Given the description of an element on the screen output the (x, y) to click on. 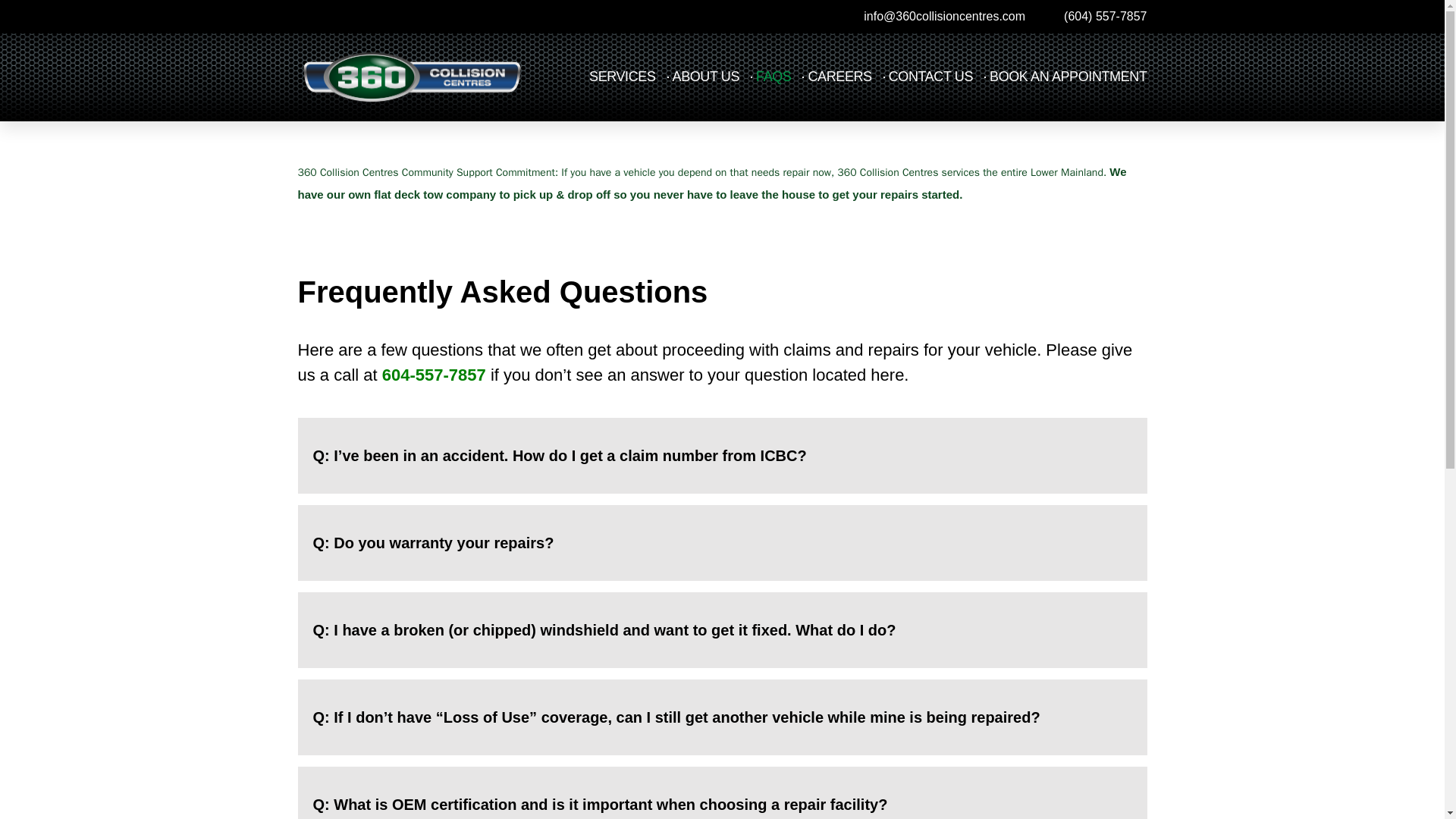
SERVICES (622, 76)
ABOUT US (705, 76)
604-557-7857 (433, 374)
Q: Do you warranty your repairs? (433, 542)
CAREERS (839, 76)
